Given the description of an element on the screen output the (x, y) to click on. 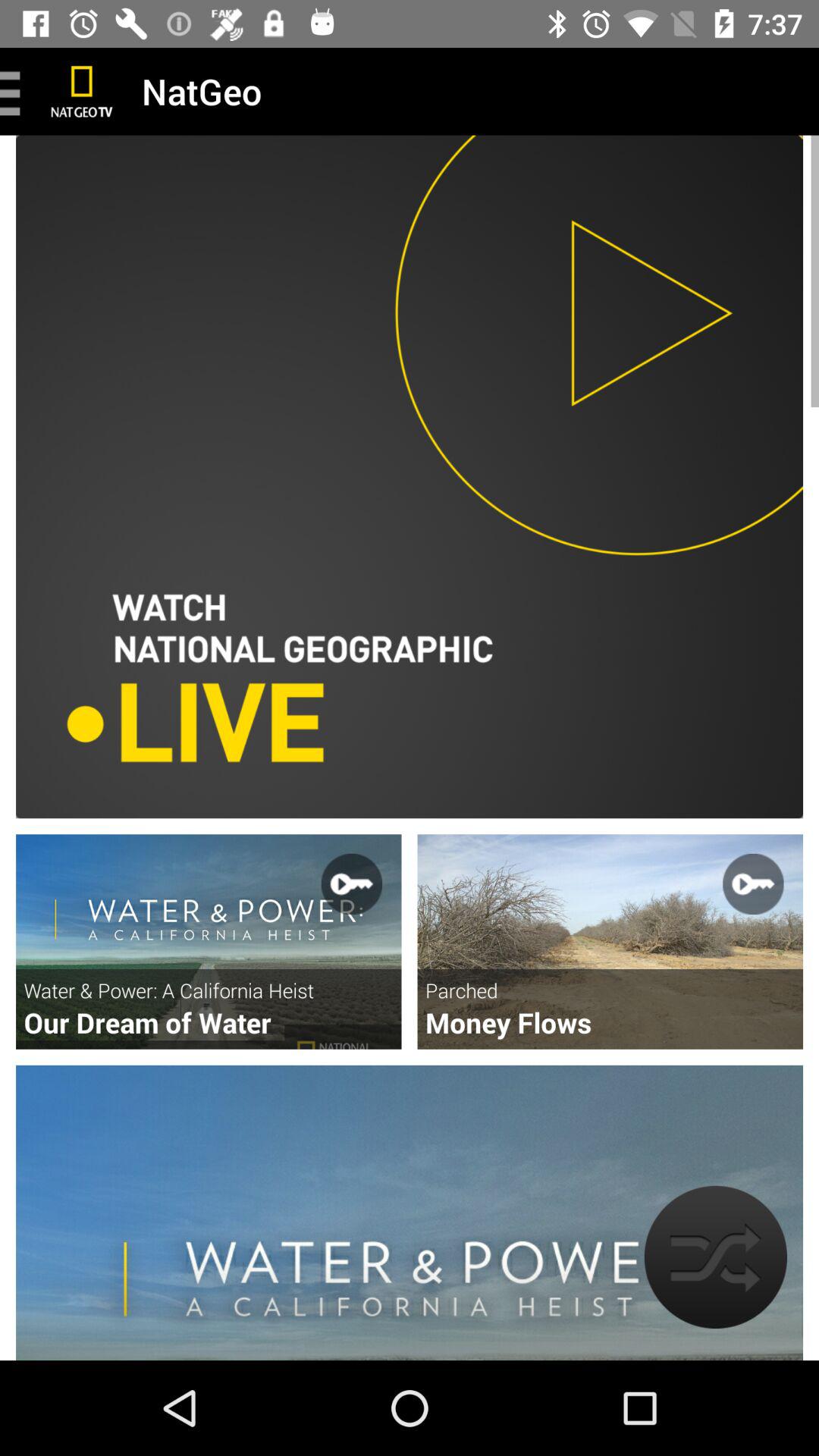
go to the page of the show (610, 941)
